Given the description of an element on the screen output the (x, y) to click on. 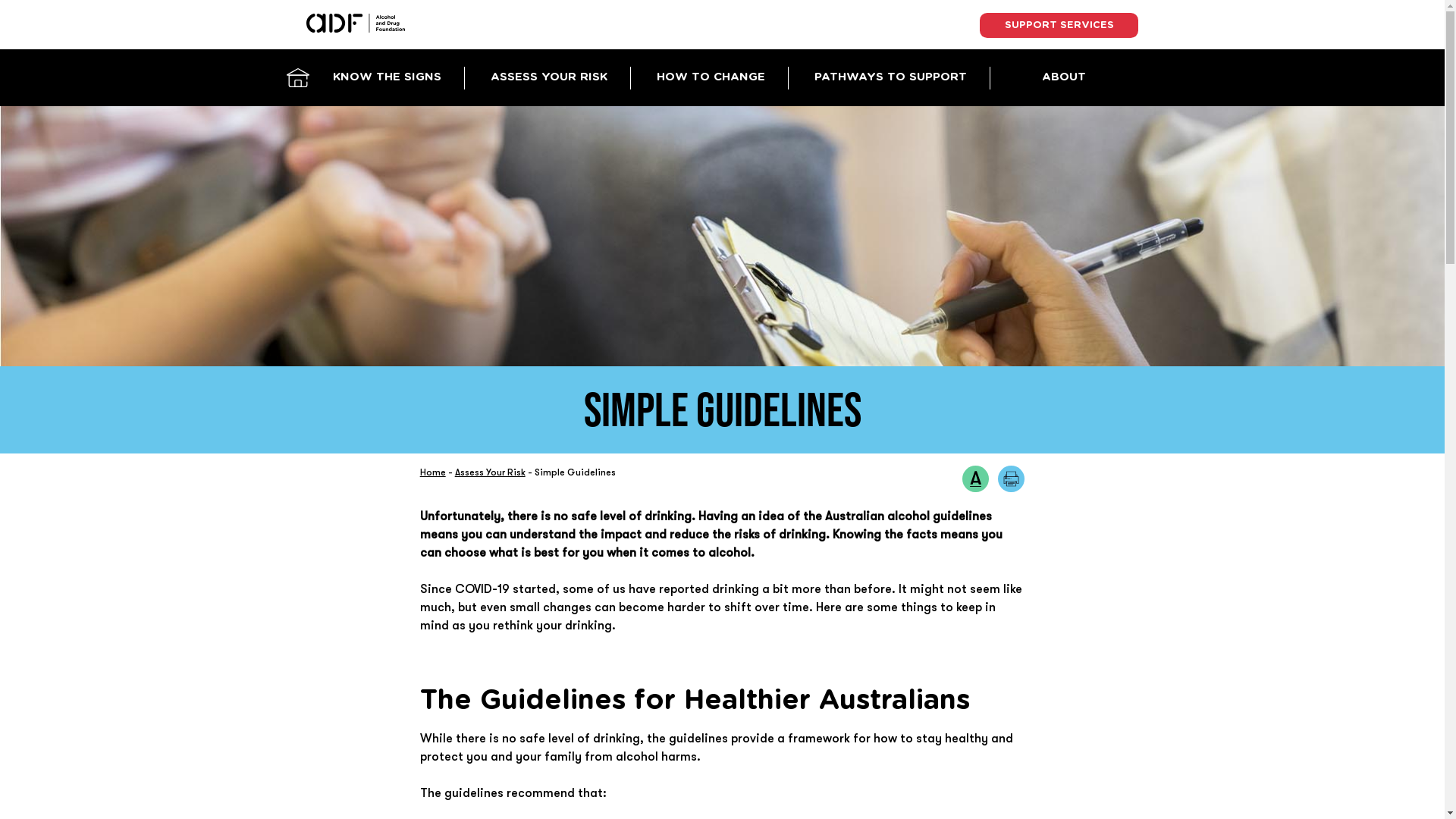
Home Element type: text (432, 472)
ABOUT Element type: text (1064, 77)
PATHWAYS TO SUPPORT Element type: text (890, 77)
SUPPORT SERVICES Element type: text (1058, 24)
Assess Your Risk Element type: text (490, 472)
HOW TO CHANGE Element type: text (710, 77)
ASSESS YOUR RISK Element type: text (548, 77)
KNOW THE SIGNS Element type: text (387, 77)
